Given the description of an element on the screen output the (x, y) to click on. 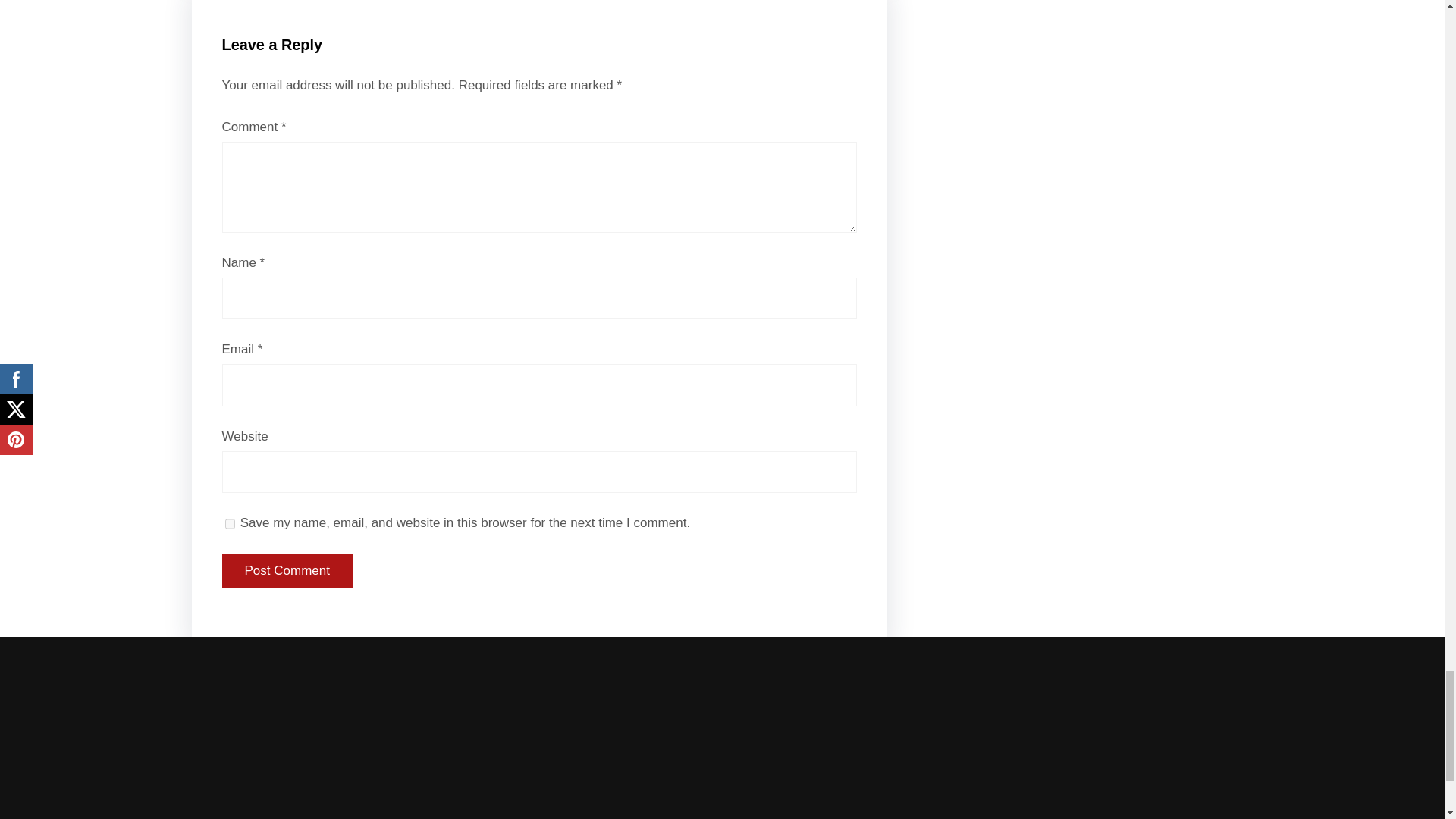
Post Comment (286, 570)
